Given the description of an element on the screen output the (x, y) to click on. 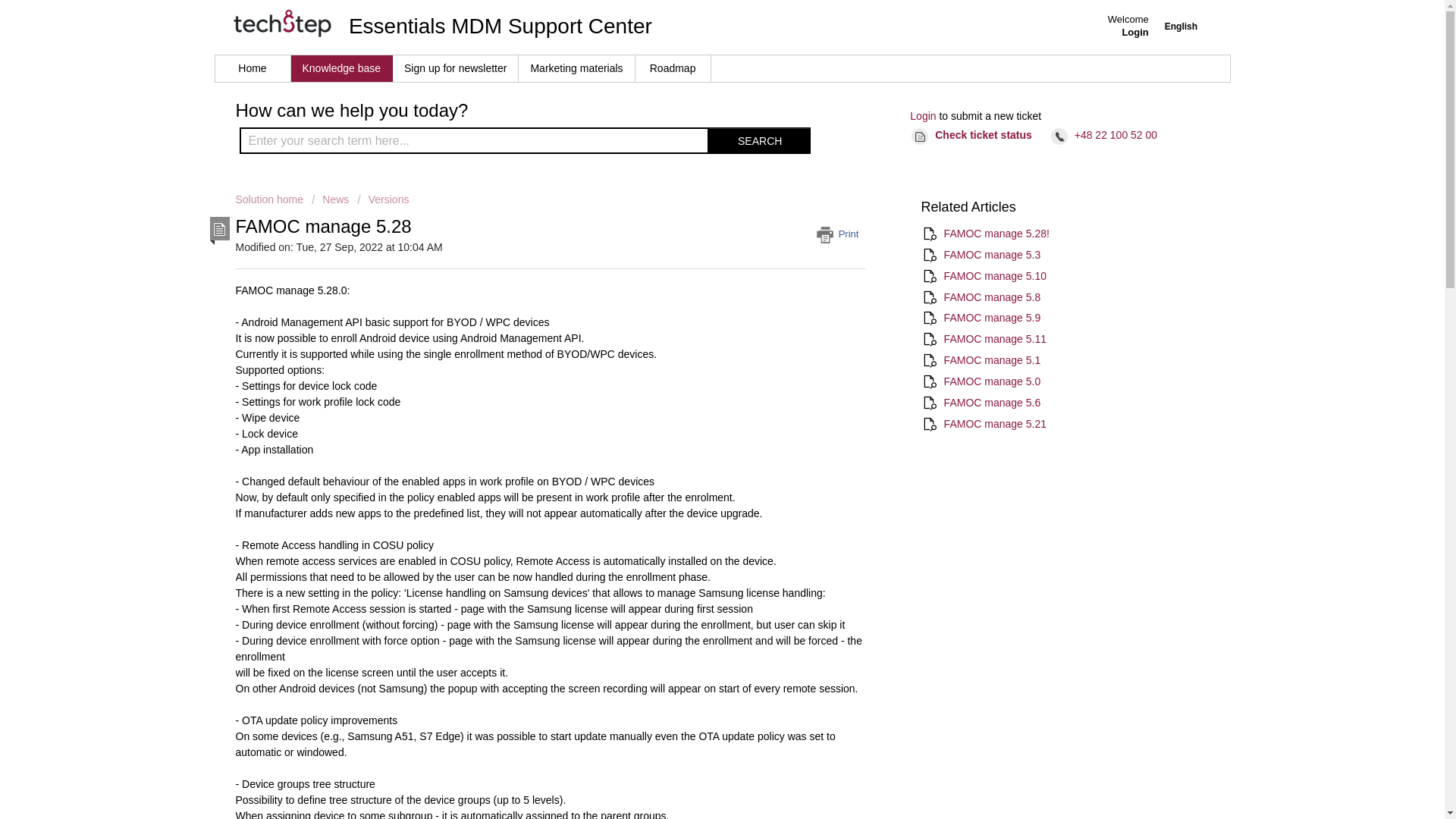
FAMOC manage 5.1 (992, 359)
Knowledge base (342, 68)
Versions (382, 199)
Check ticket status (974, 136)
Print (841, 233)
FAMOC manage 5.11 (994, 338)
FAMOC manage 5.9 (992, 317)
FAMOC manage 5.8 (992, 297)
Sign up for newsletter (455, 68)
Solution home (269, 199)
